Given the description of an element on the screen output the (x, y) to click on. 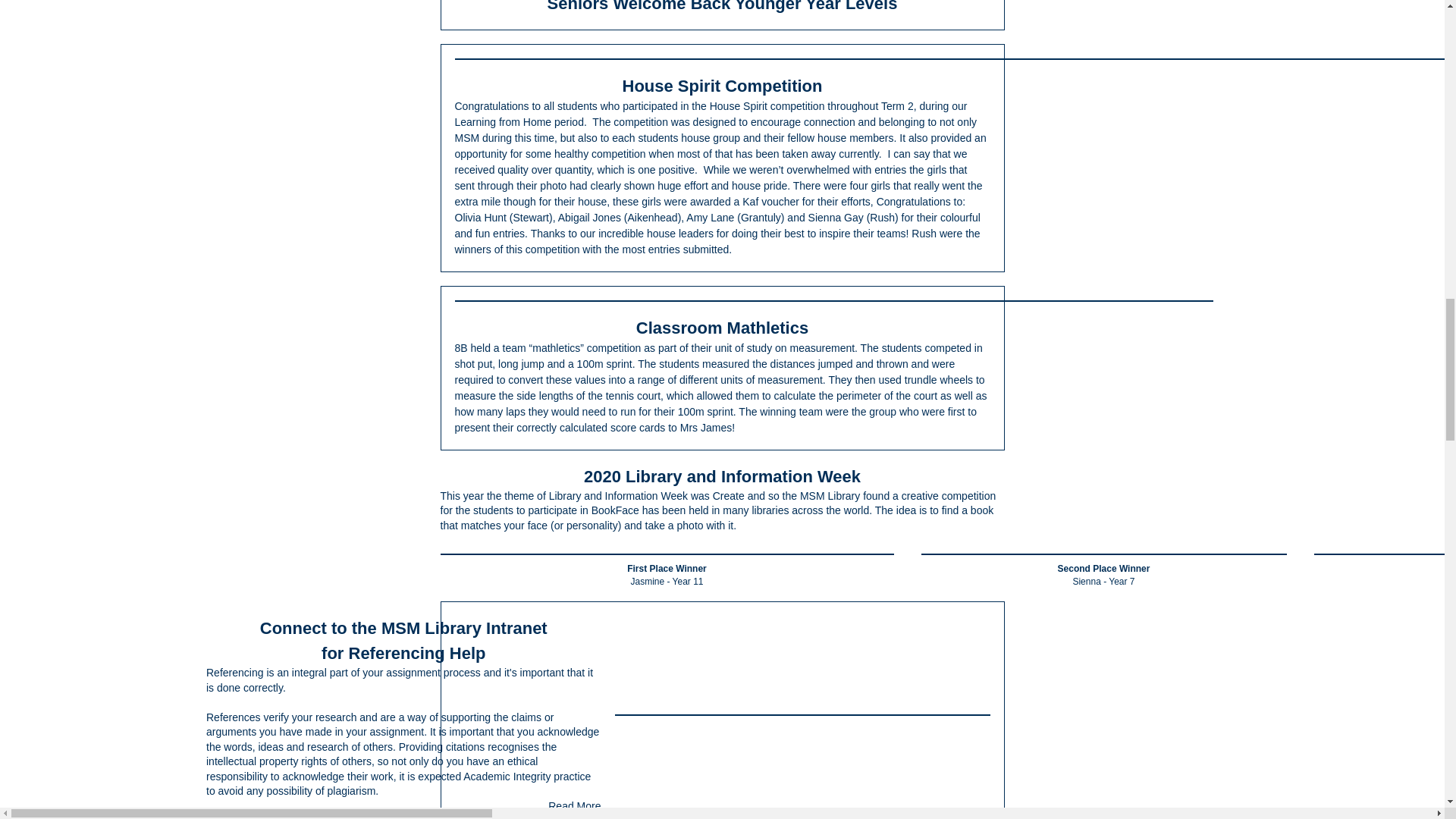
Read More (573, 805)
